Given the description of an element on the screen output the (x, y) to click on. 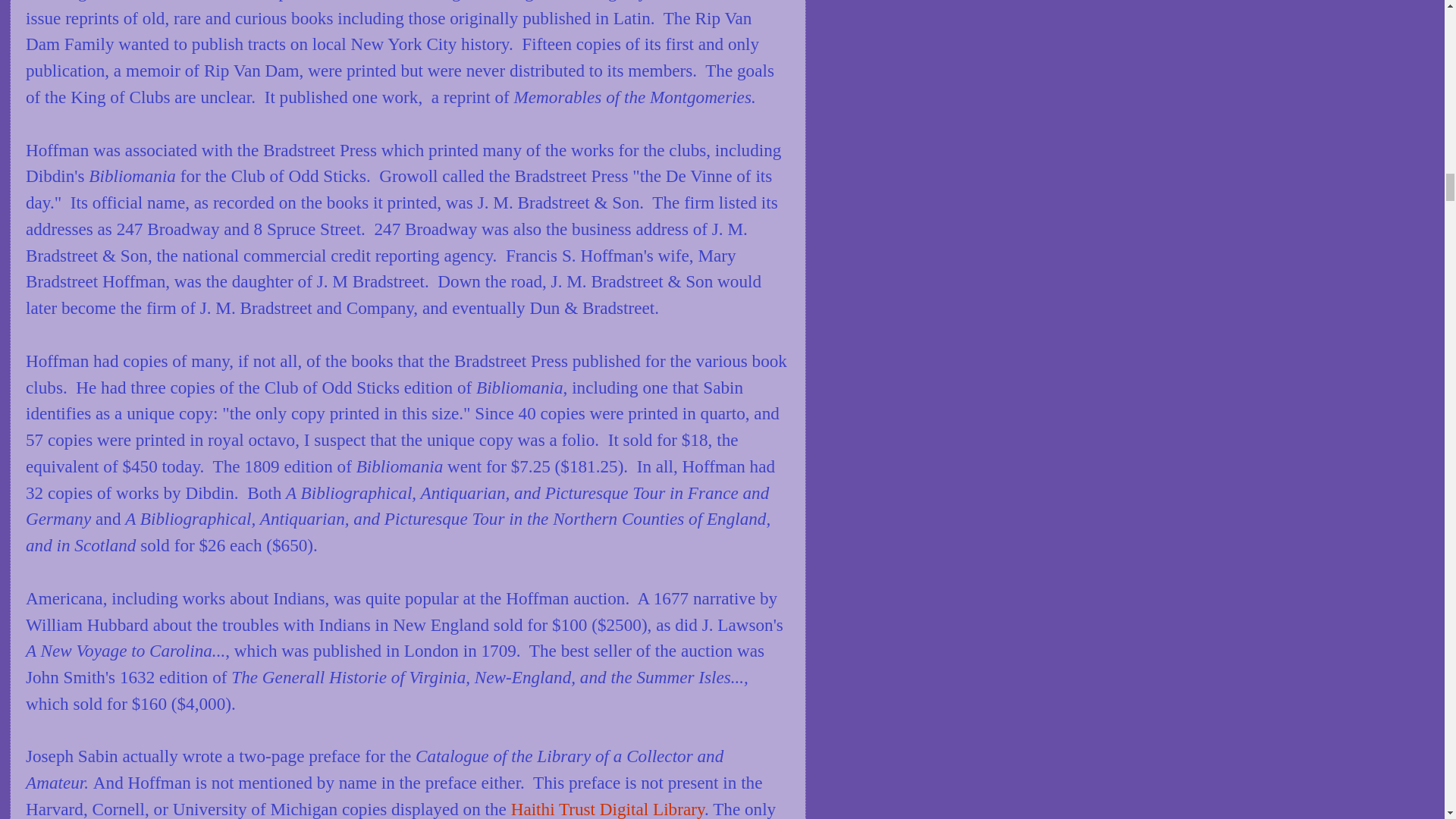
Haithi Trust Digital Library (605, 809)
